Given the description of an element on the screen output the (x, y) to click on. 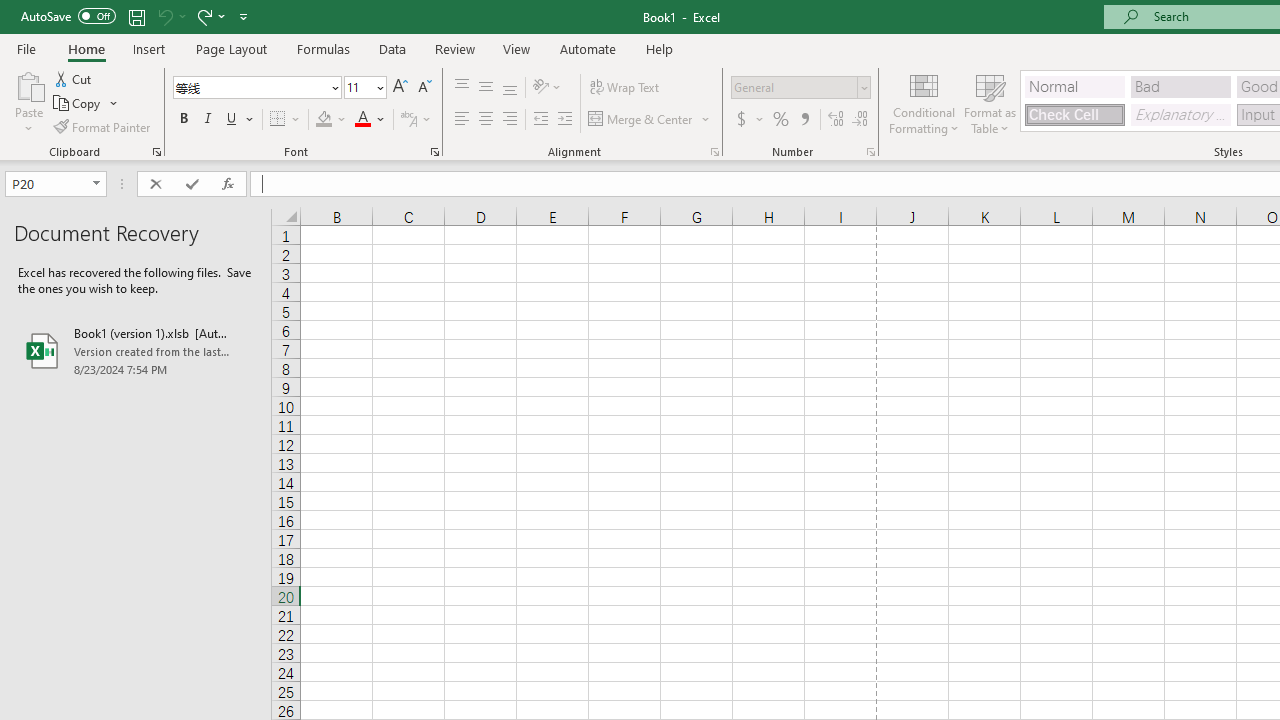
Quick Access Toolbar (136, 16)
Decrease Font Size (424, 87)
Decrease Indent (540, 119)
Underline (232, 119)
Conditional Formatting (924, 102)
Underline (239, 119)
Format Cell Number (870, 151)
Italic (207, 119)
Font Color (370, 119)
Bold (183, 119)
Font Size (358, 87)
Orientation (547, 87)
Increase Font Size (399, 87)
Align Left (461, 119)
